Given the description of an element on the screen output the (x, y) to click on. 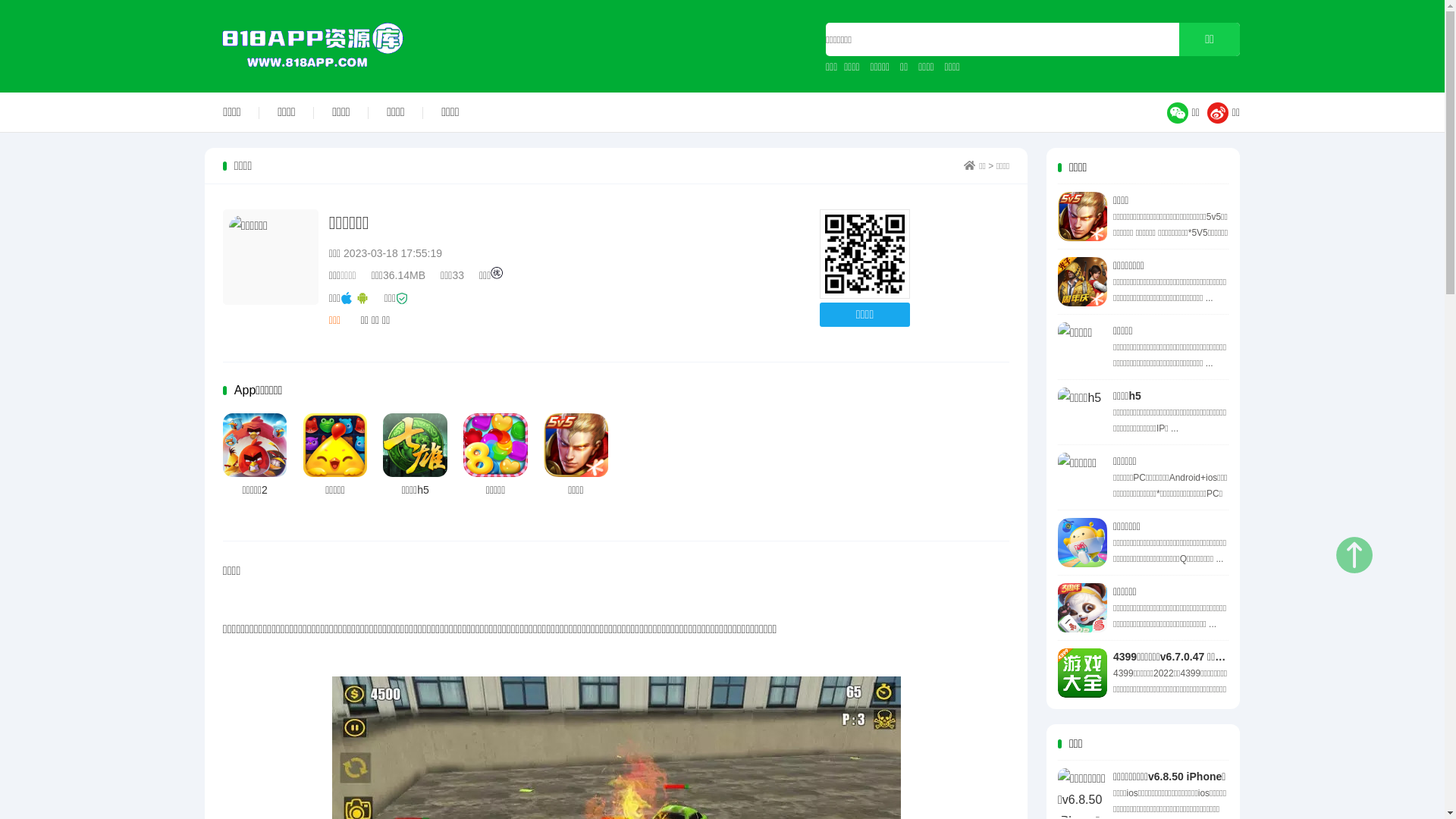
http://www.818app.com Element type: hover (864, 254)
